Given the description of an element on the screen output the (x, y) to click on. 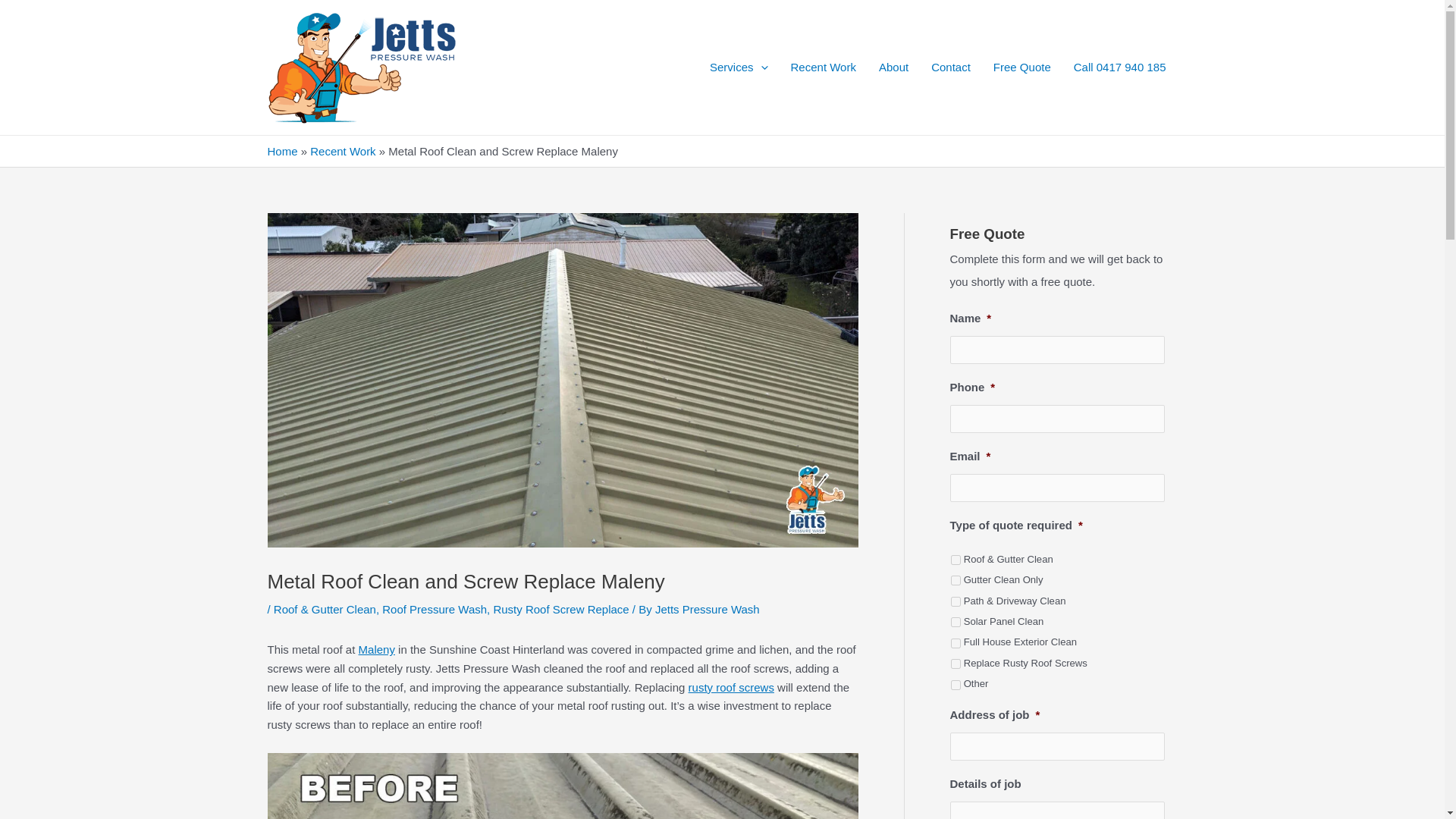
Recent Work (342, 151)
Maleny (376, 649)
Home (281, 151)
Solar Panel Clean (955, 622)
About (893, 67)
Other (955, 685)
Roof Pressure Wash (433, 608)
Full House Exterior Clean (955, 643)
Replace Rusty Roof Screws (955, 664)
Contact (950, 67)
Recent Work (822, 67)
Jetts Pressure Wash (707, 608)
rusty roof screws (731, 686)
Free Quote (1021, 67)
Services (738, 67)
